Given the description of an element on the screen output the (x, y) to click on. 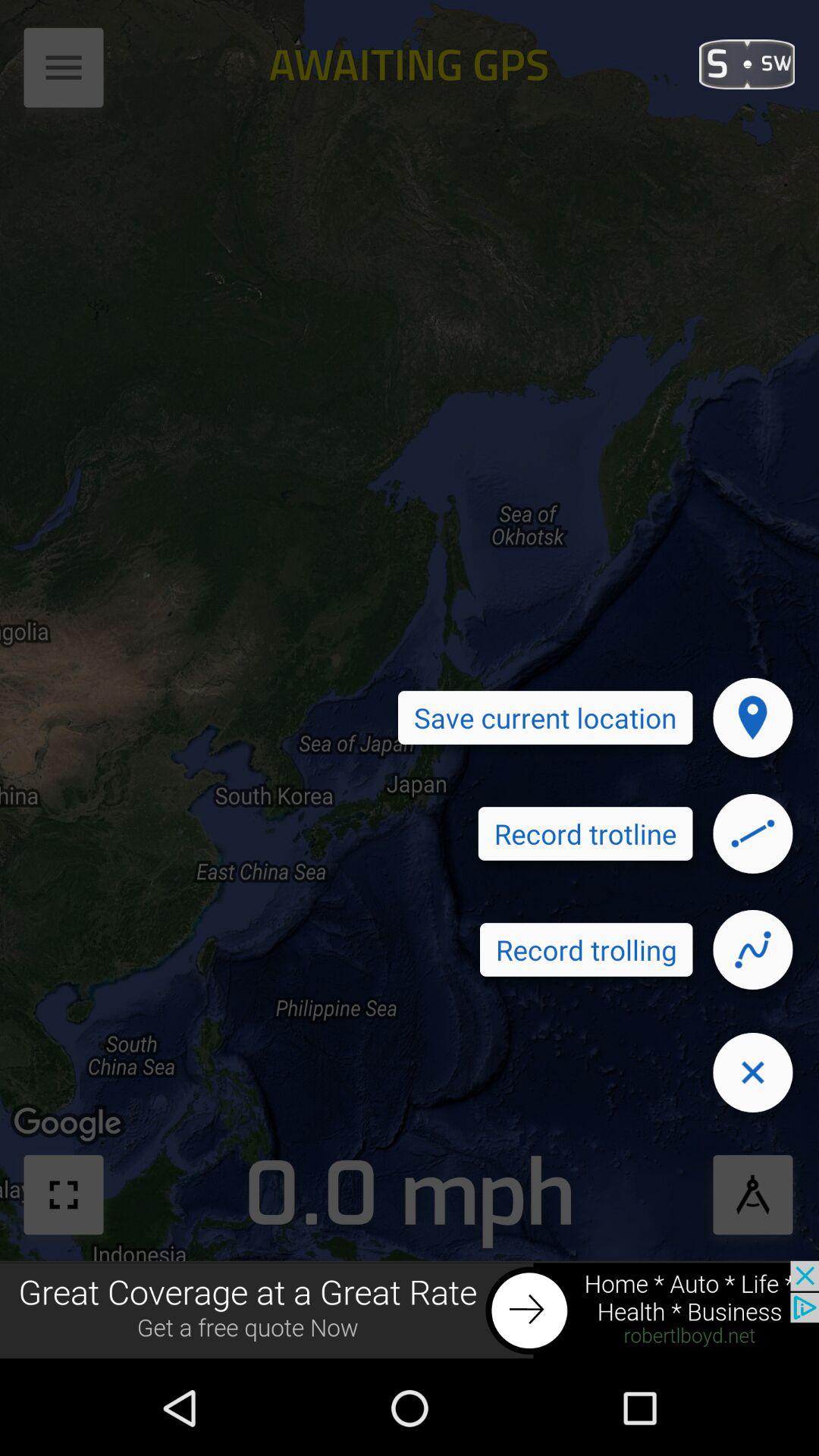
location (752, 717)
